Given the description of an element on the screen output the (x, y) to click on. 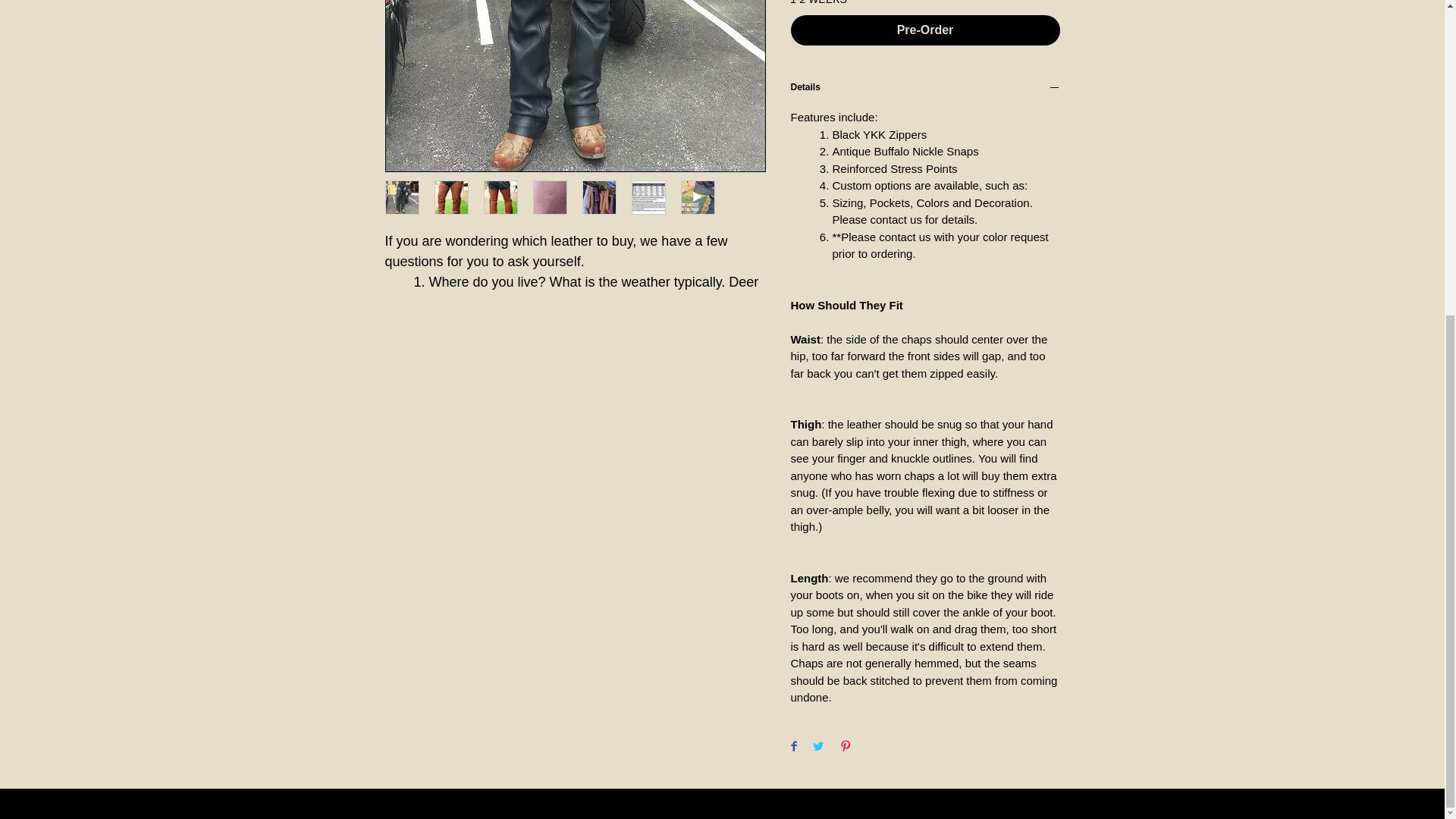
Pre-Order (924, 30)
Details (924, 88)
